Given the description of an element on the screen output the (x, y) to click on. 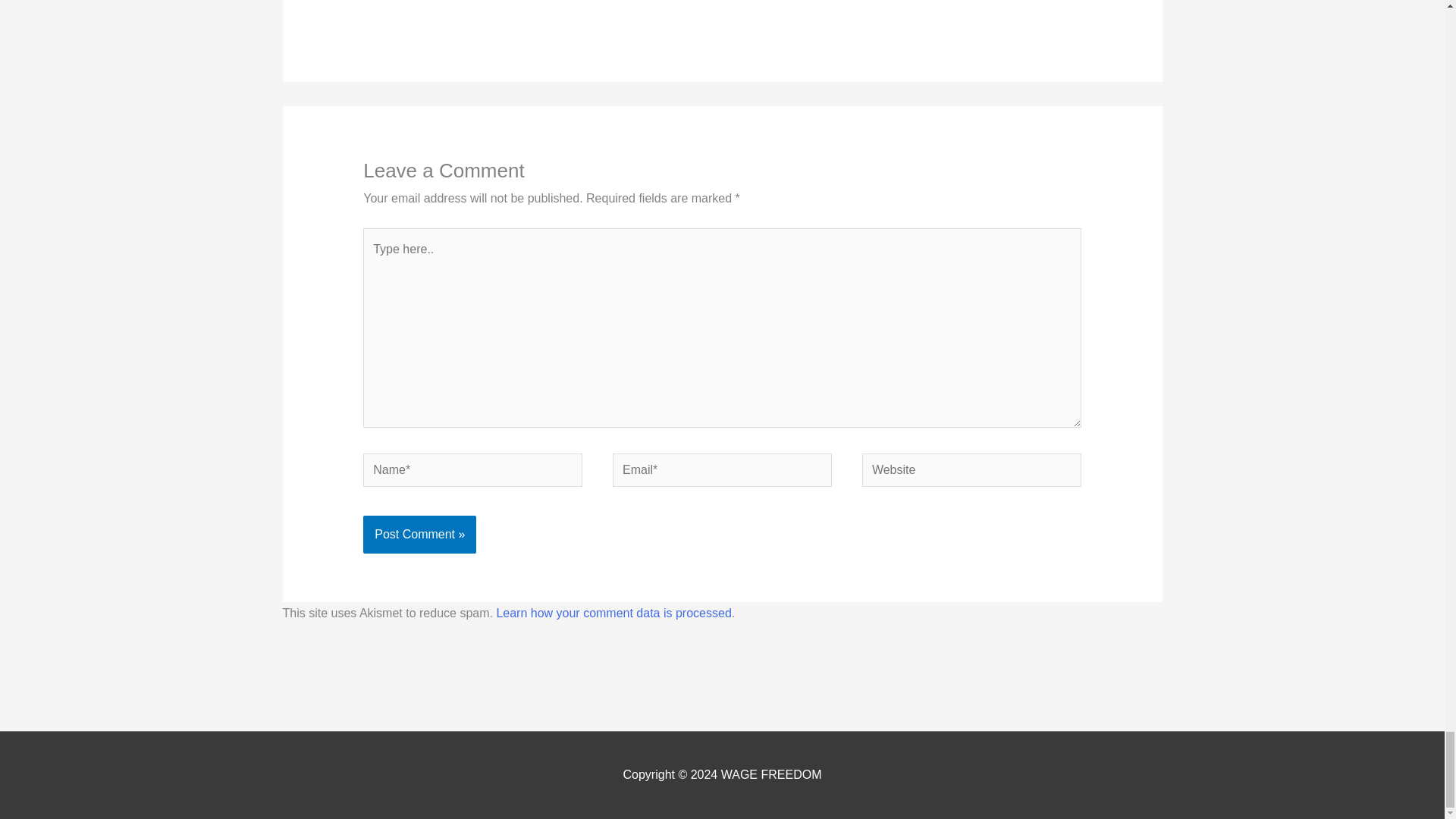
Learn how your comment data is processed (613, 612)
